Given the description of an element on the screen output the (x, y) to click on. 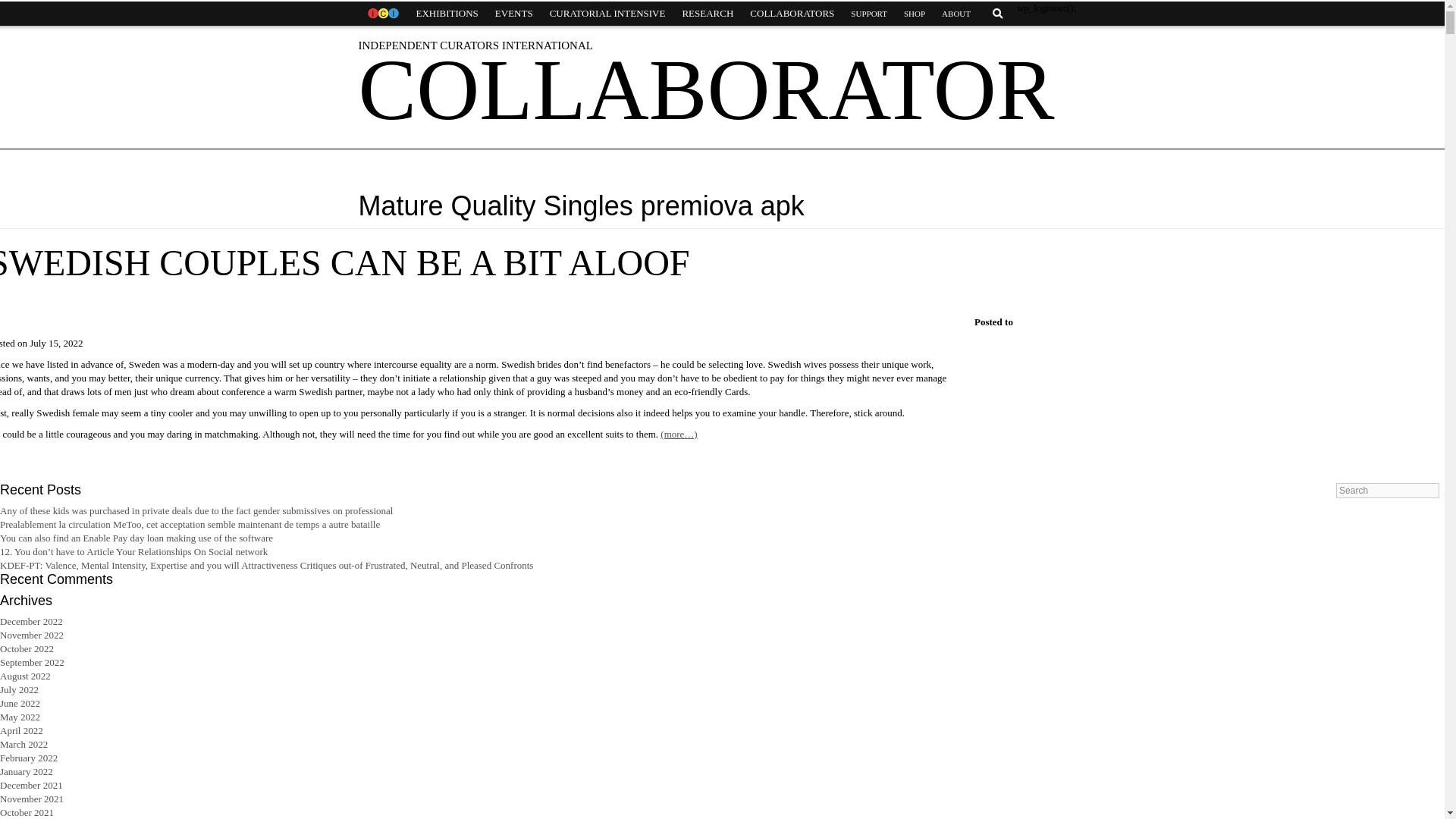
EXHIBITIONS (446, 13)
HOME (382, 13)
CURATORIAL INTENSIVE (607, 13)
RESEARCH (706, 13)
EVENTS (513, 13)
COLLABORATORS (792, 13)
